Given the description of an element on the screen output the (x, y) to click on. 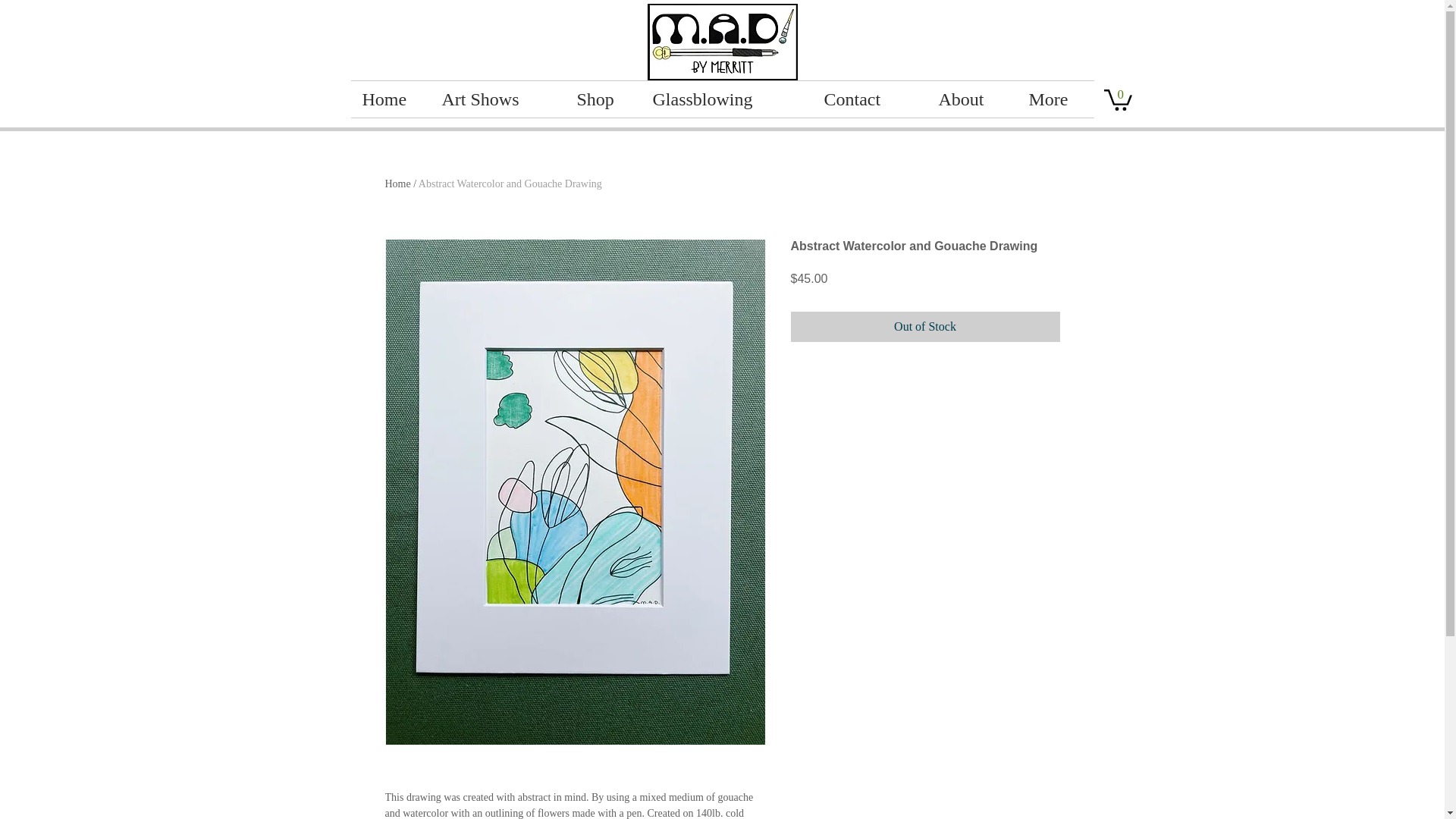
Shop (604, 99)
0 (1117, 98)
Art Shows (498, 99)
Abstract Watercolor and Gouache Drawing (510, 183)
Out of Stock (924, 327)
Contact (869, 99)
About (971, 99)
0 (1117, 98)
Glassblowing (727, 99)
Home (397, 183)
